Given the description of an element on the screen output the (x, y) to click on. 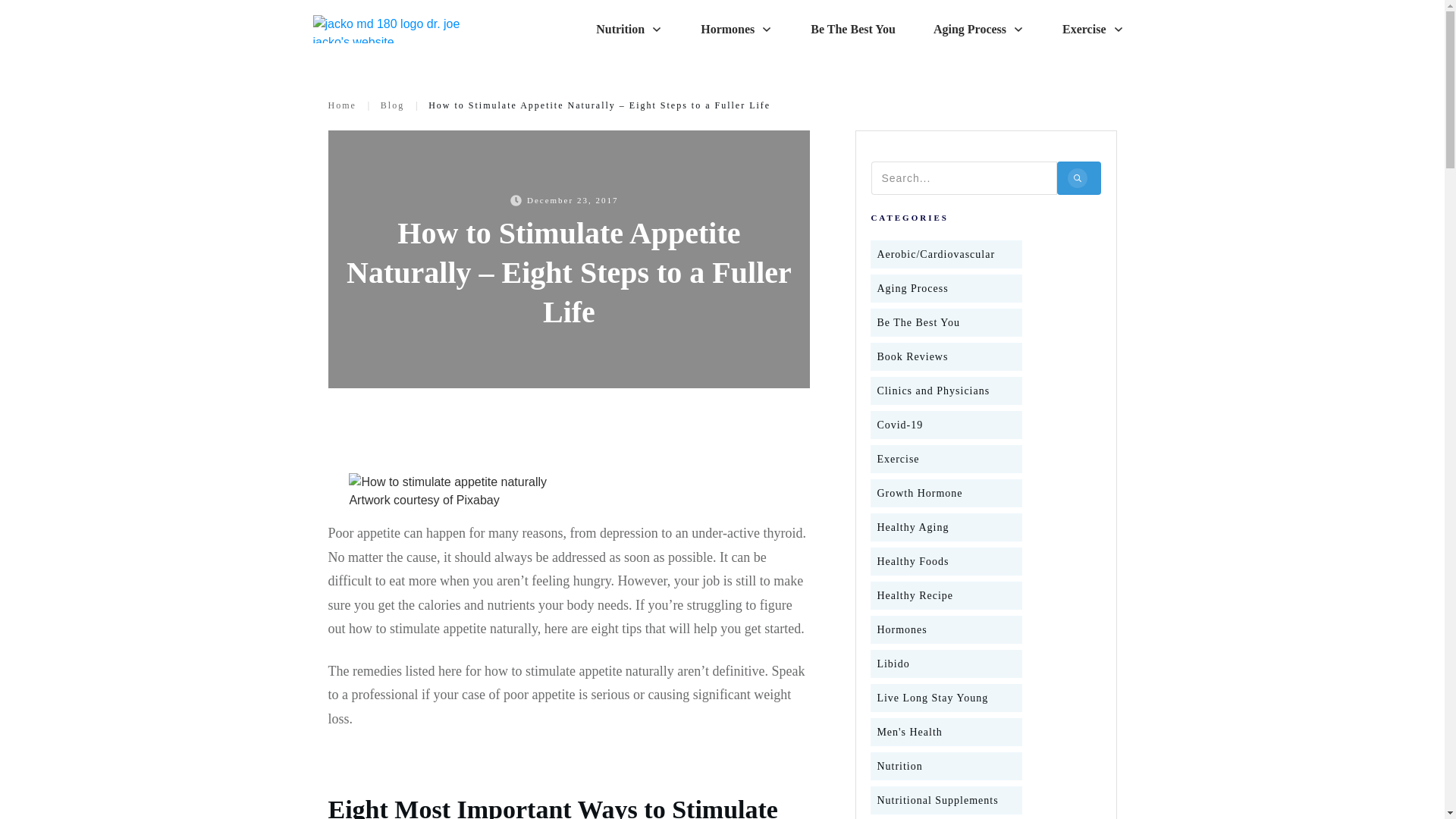
Aging Process (911, 288)
Nutrition (628, 28)
Aging Process (979, 28)
Exercise (1093, 28)
Be The Best You (852, 28)
Hormones (736, 28)
Home (341, 105)
Be The Best You (917, 322)
Blog (392, 105)
Book Reviews (911, 356)
